Given the description of an element on the screen output the (x, y) to click on. 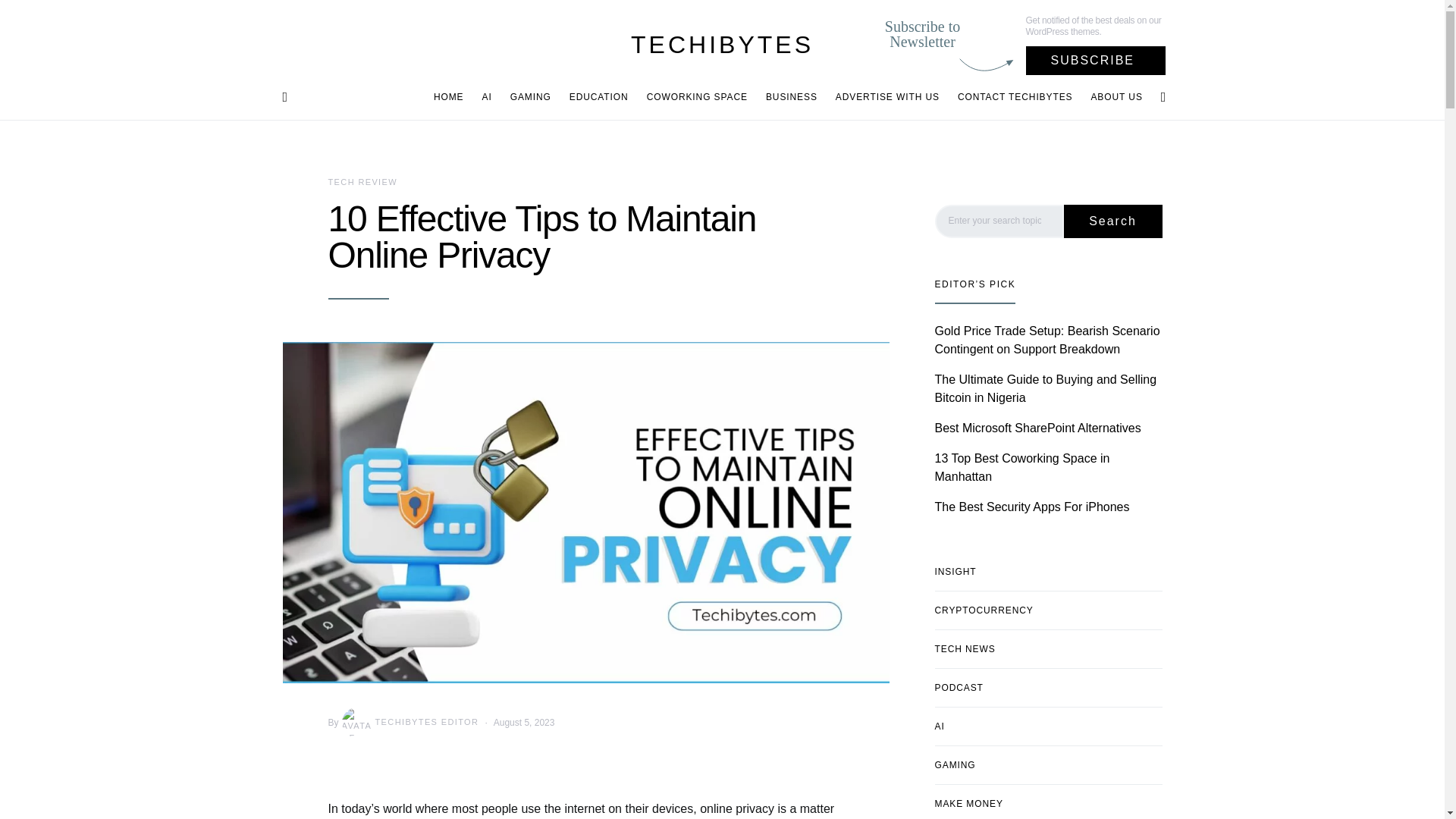
BUSINESS (792, 96)
EDUCATION (598, 96)
View all posts by Techibytes Editor (409, 722)
ADVERTISE WITH US (888, 96)
GAMING (530, 96)
ABOUT US (1111, 96)
TECH REVIEW (362, 181)
TECHIBYTES EDITOR (409, 722)
TECHIBYTES (721, 44)
